Given the description of an element on the screen output the (x, y) to click on. 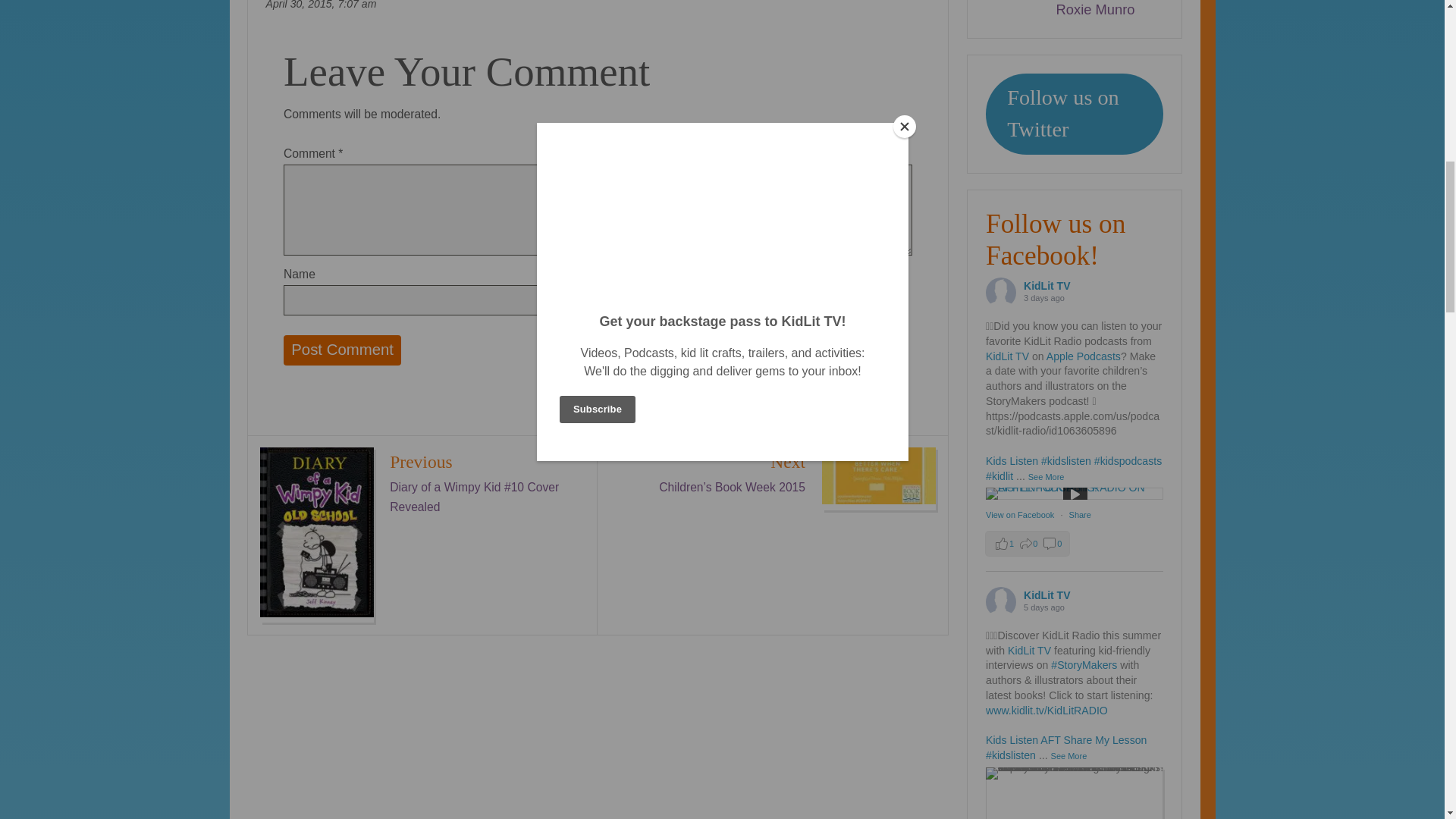
Post Comment (342, 349)
LISTEN TO KIDLIT RADIO ON APPLE PODCASTS! (1074, 493)
View on Facebook (1021, 514)
Share (1079, 514)
